Given the description of an element on the screen output the (x, y) to click on. 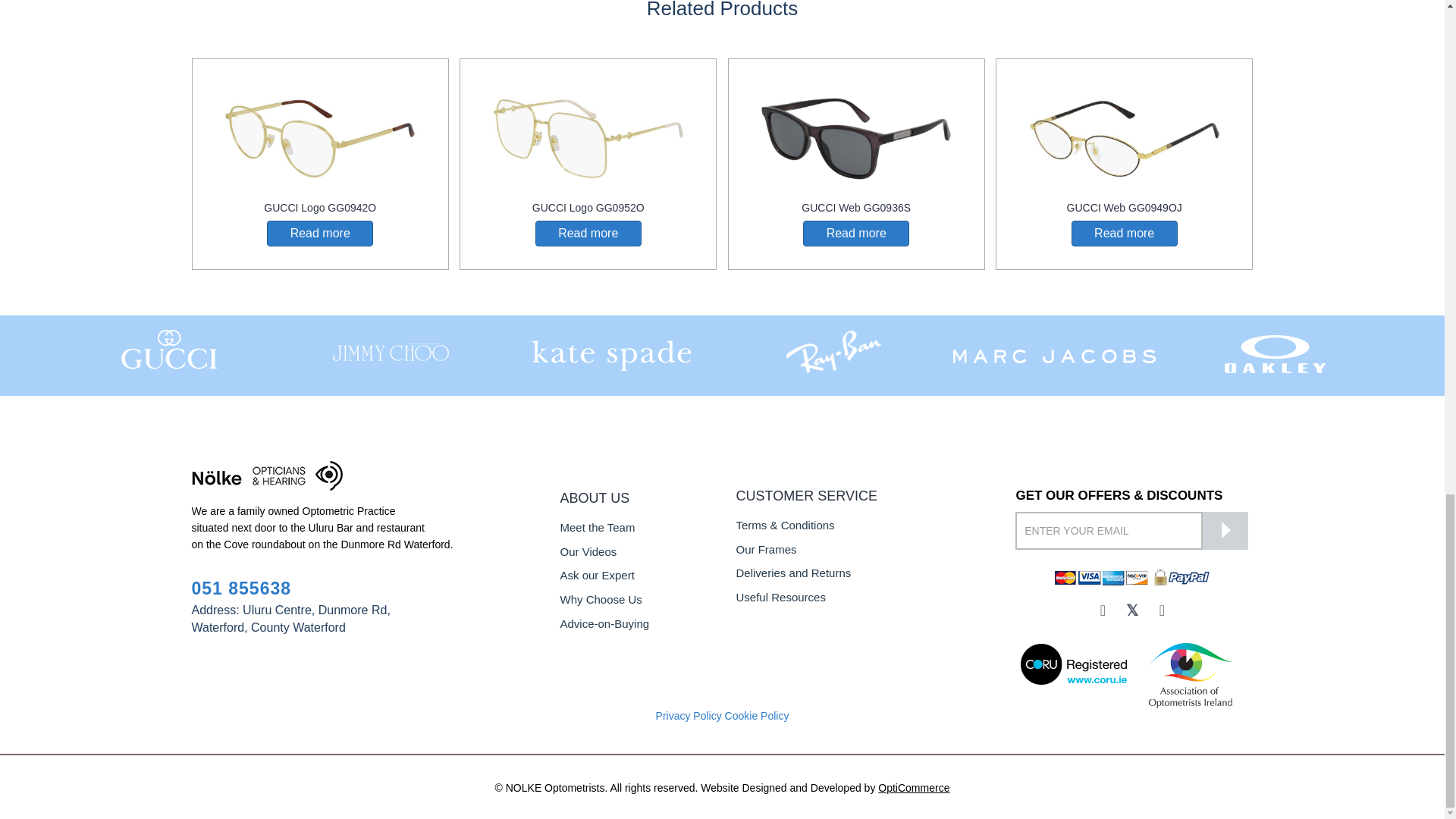
1 (169, 351)
jimmy-cho (390, 351)
3 (611, 351)
